Given the description of an element on the screen output the (x, y) to click on. 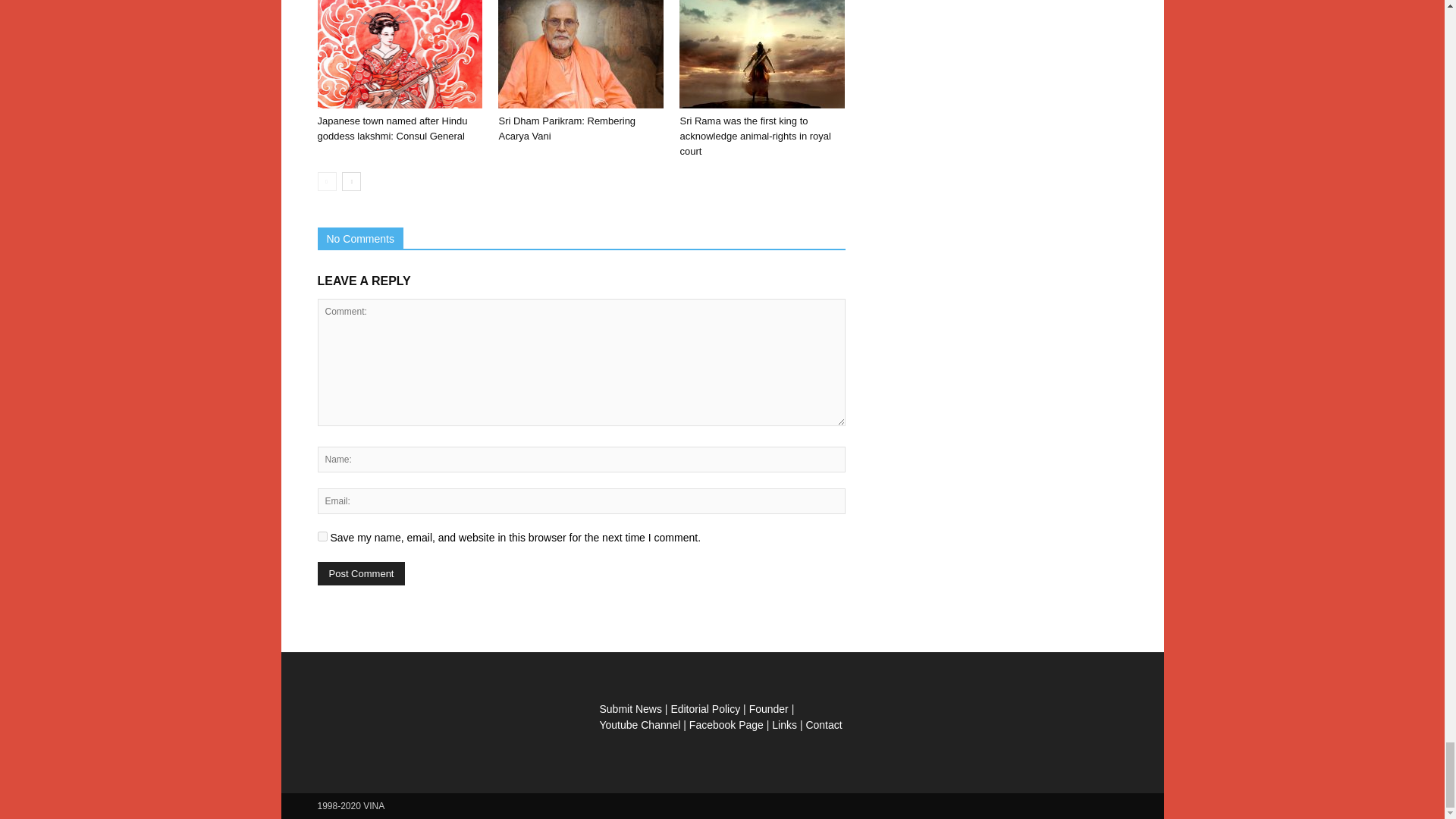
Sri Dham Parikram: Rembering Acarya Vani (580, 54)
Founder of VINA (769, 708)
Post Comment (360, 573)
Editorial Policy (704, 708)
Sri Dham Parikram: Rembering Acarya Vani (565, 128)
yes (321, 536)
Guidelines For Submitting News (629, 708)
